Given the description of an element on the screen output the (x, y) to click on. 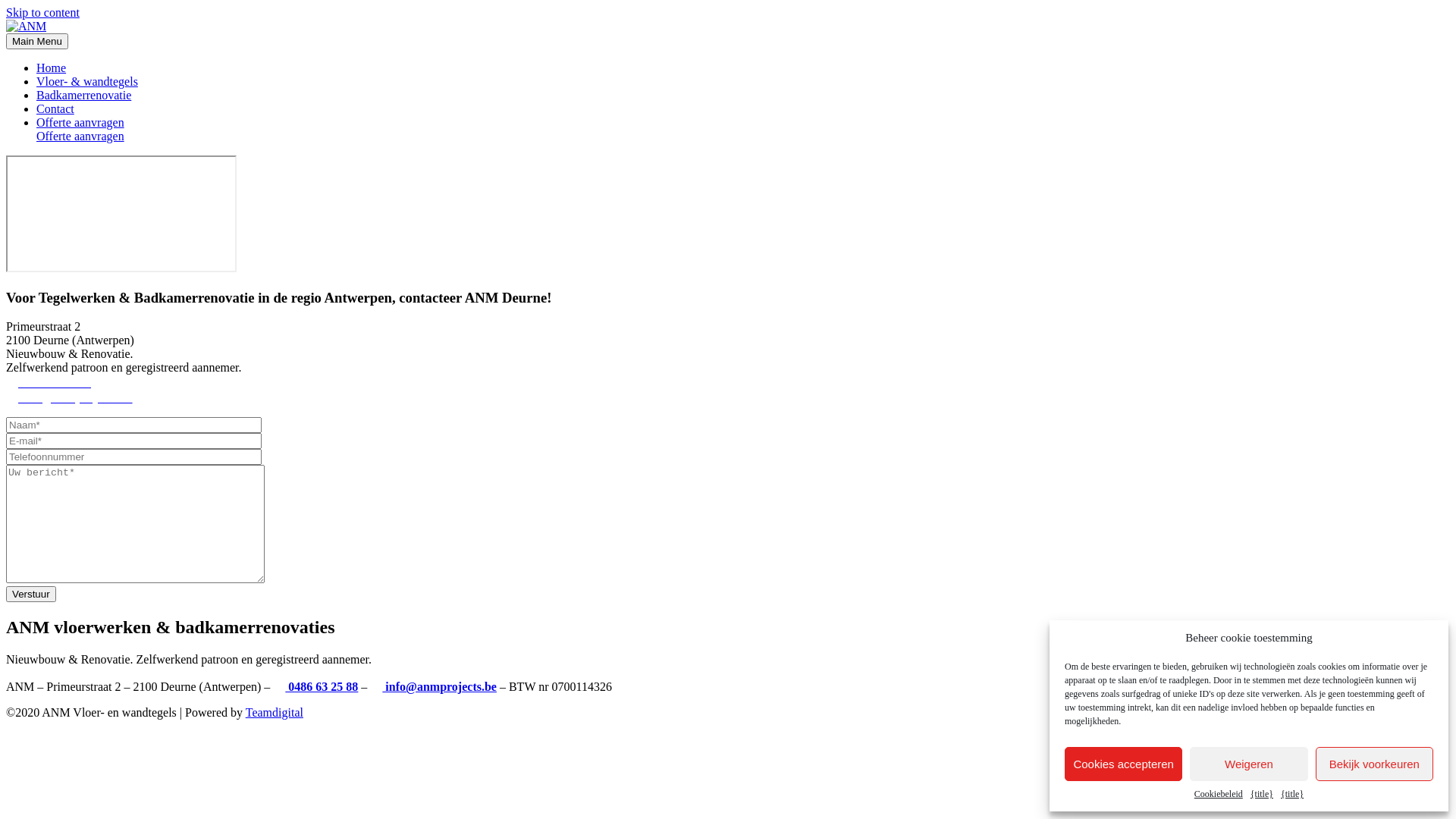
Offerte aanvragen Element type: text (742, 129)
Weigeren Element type: text (1248, 763)
 0486 63 25 88 Element type: text (54, 382)
Cookiebeleid Element type: text (1218, 794)
Skip to content Element type: text (42, 12)
info@anmprojects.be Element type: text (433, 686)
Contact Element type: text (55, 108)
Badkamerrenovatie Element type: text (83, 94)
Offerte aanvragen Element type: text (80, 135)
Main Menu Element type: text (37, 41)
Teamdigital Element type: text (274, 712)
 0486 63 25 88 Element type: text (321, 686)
Home Element type: text (50, 67)
Cookies accepteren Element type: text (1123, 763)
Vloer- & wandtegels Element type: text (87, 81)
Bekijk voorkeuren Element type: text (1374, 763)
Verstuur Element type: text (31, 594)
info@anmprojects.be Element type: text (69, 397)
